Given the description of an element on the screen output the (x, y) to click on. 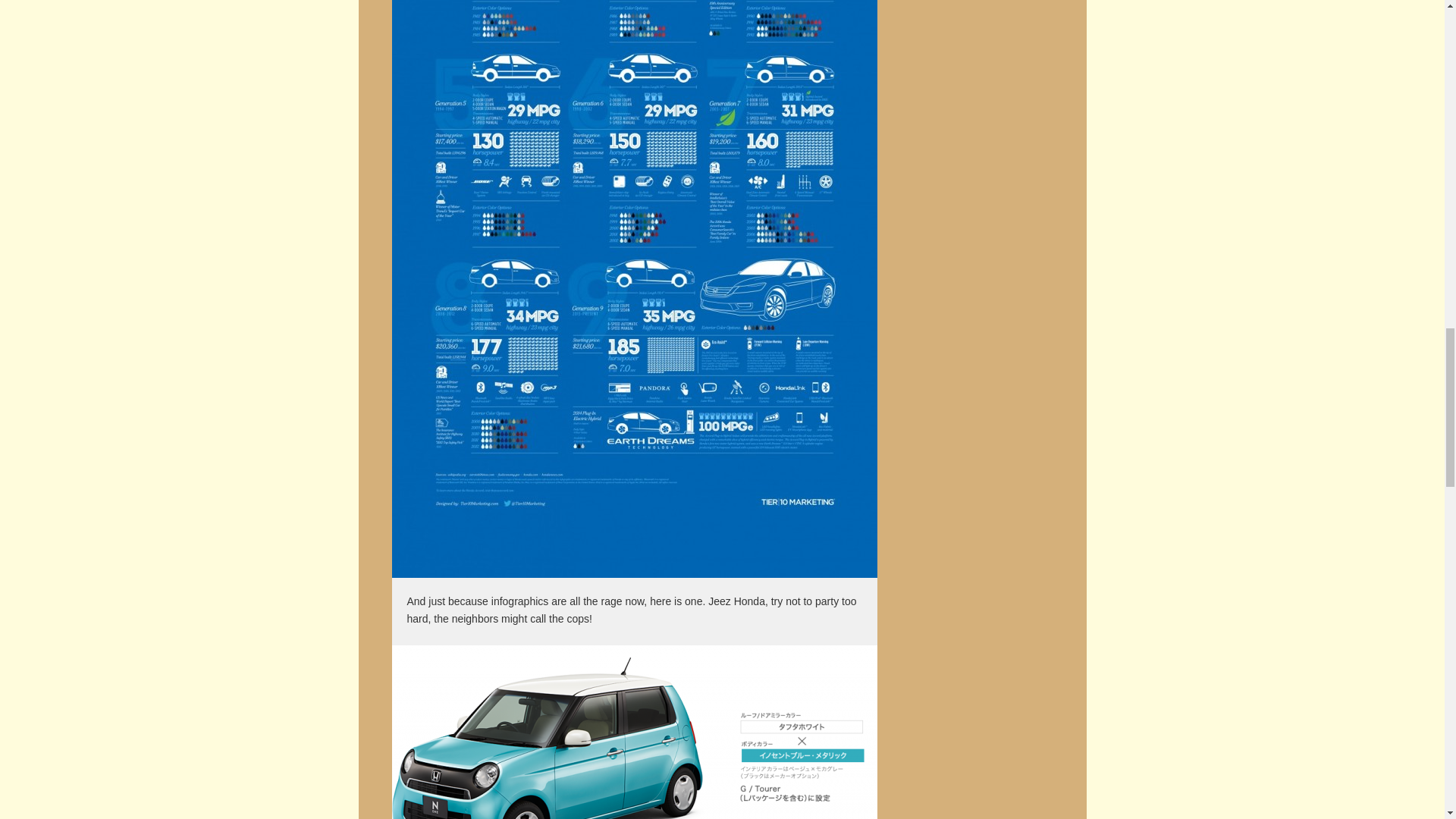
Honda N-One 02 (633, 732)
